Given the description of an element on the screen output the (x, y) to click on. 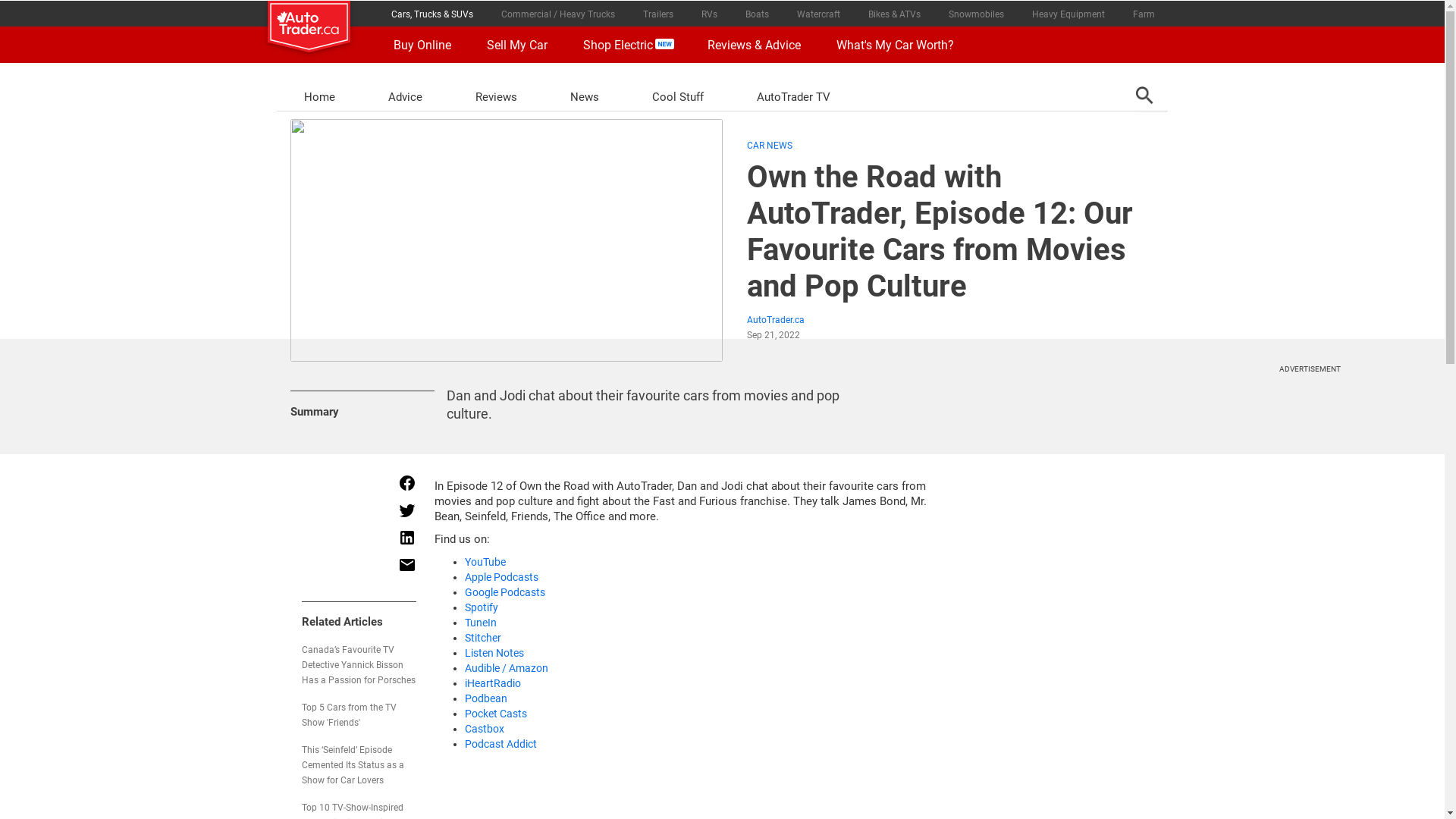
Trailers Element type: text (658, 13)
Cars, Trucks & SUVs Element type: text (432, 13)
Snowmobiles Element type: text (975, 13)
Podbean Element type: text (485, 698)
Audible / Amazon Element type: text (505, 668)
Bikes & ATVs Element type: text (893, 13)
Google Podcasts Element type: text (504, 592)
What's My Car Worth? Element type: text (889, 43)
RVs Element type: text (709, 13)
Pocket Casts Element type: text (495, 713)
Sell My Car Element type: text (512, 43)
News Element type: text (584, 96)
Podcast Addict Element type: text (500, 743)
Heavy Equipment Element type: text (1067, 13)
Boats Element type: text (756, 13)
Top 5 Cars from the TV Show 'Friends' Element type: text (348, 715)
AutoTrader TV Element type: text (793, 96)
Apple Podcasts Element type: text (500, 577)
Buy Online Element type: text (416, 43)
Home Element type: text (319, 96)
Listen Notes Element type: text (493, 652)
Farm Element type: text (1144, 13)
Advice Element type: text (405, 96)
YouTube Element type: text (484, 561)
Shop Electric Element type: text (621, 44)
Spotify Element type: text (480, 607)
iHeartRadio Element type: text (492, 683)
Reviews Element type: text (496, 96)
Cool Stuff Element type: text (677, 96)
Watercraft Element type: text (817, 13)
Reviews & Advice Element type: text (748, 43)
TuneIn Element type: text (479, 622)
Castbox Element type: text (483, 728)
Stitcher Element type: text (482, 637)
Commercial / Heavy Trucks Element type: text (557, 13)
